Given the description of an element on the screen output the (x, y) to click on. 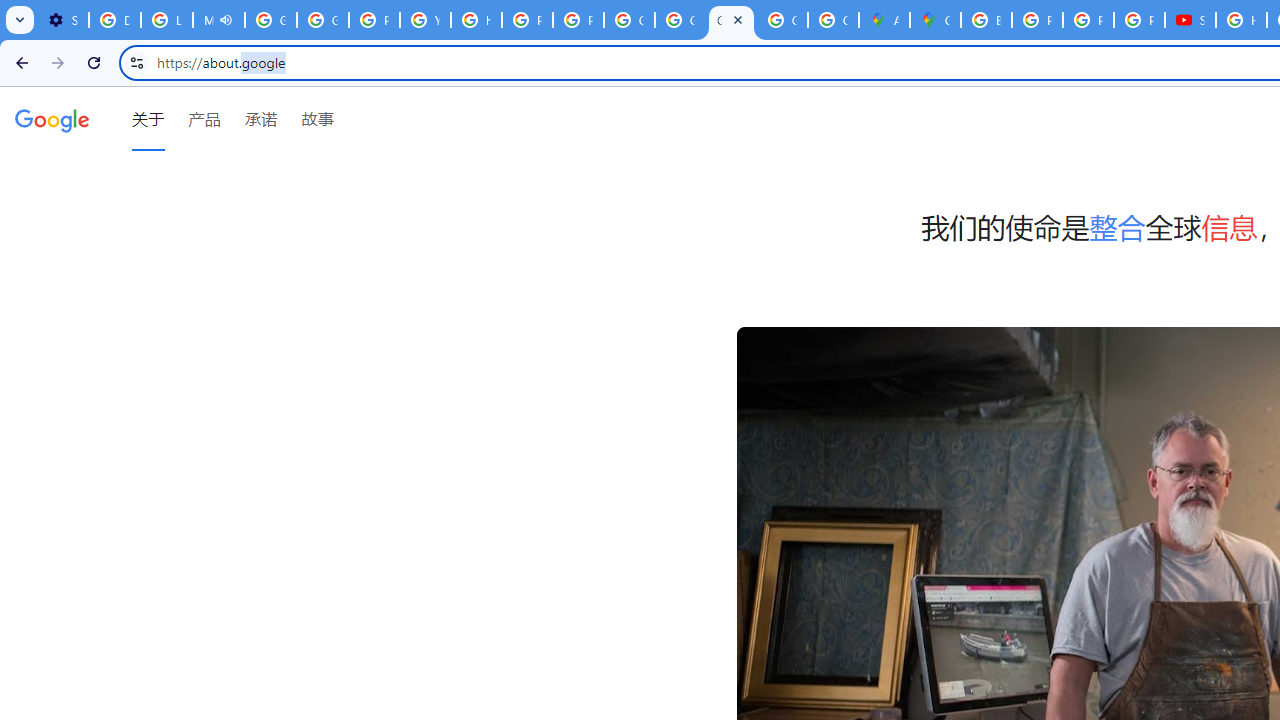
Blogger Policies and Guidelines - Transparency Center (986, 20)
Google Account Help (323, 20)
Privacy Help Center - Policies Help (1037, 20)
Privacy Help Center - Policies Help (526, 20)
Settings - Customize profile (63, 20)
